Given the description of an element on the screen output the (x, y) to click on. 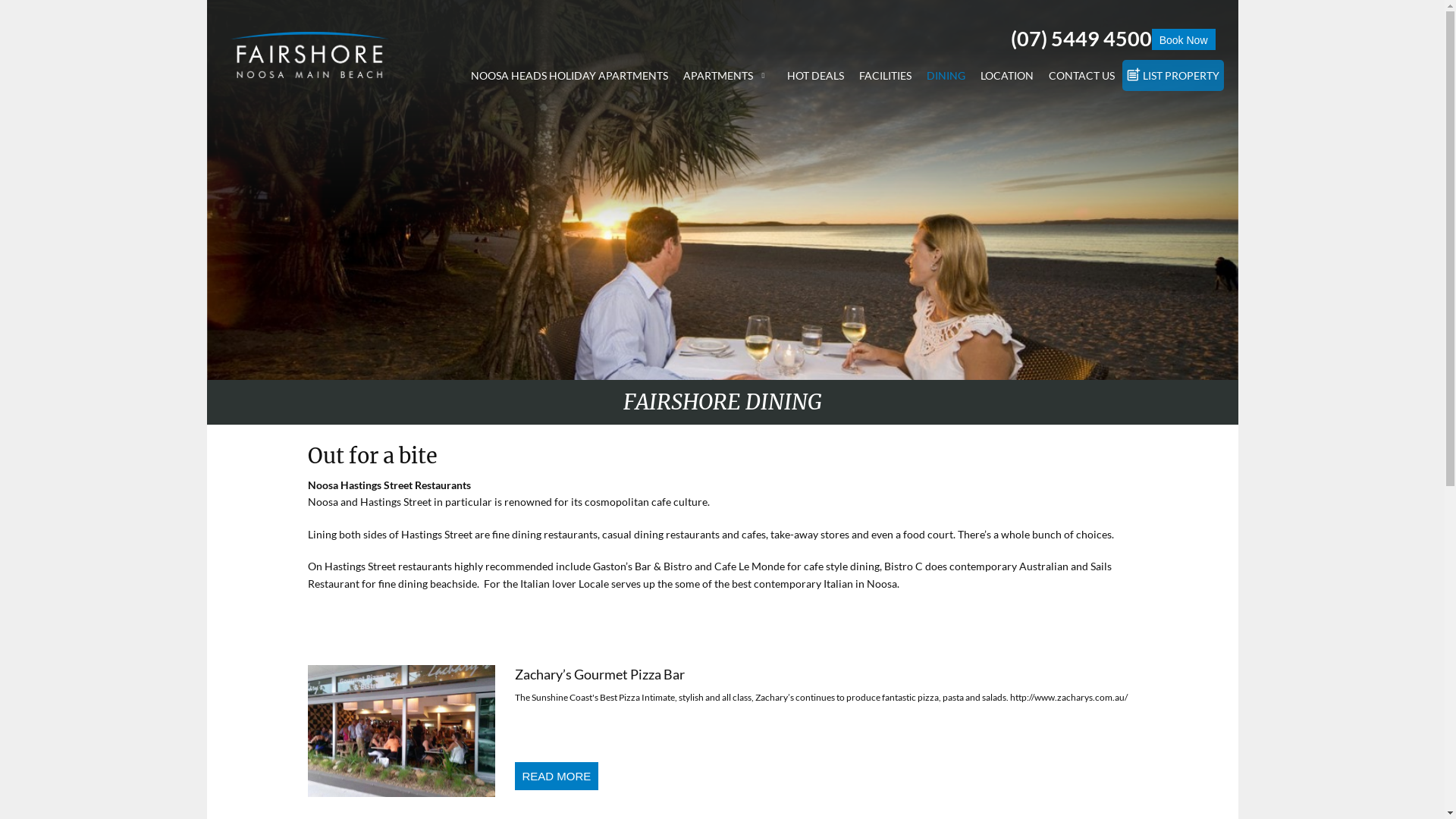
DIRECT BEACH ACCESS Element type: text (763, 162)
DINING Element type: text (945, 75)
LIST PROPERTY Element type: text (1172, 75)
APARTMENTS Element type: text (726, 75)
NOOSA HEADS HOLIDAY APARTMENTS Element type: text (568, 75)
SUPERIOR BEACHFRONT Element type: text (763, 139)
2 BEDROOM 2 BATHROOM DELUXE Element type: text (763, 117)
CONTACT US Element type: text (1080, 75)
Book Now Element type: text (1183, 39)
BEACHFRONT Element type: text (763, 94)
READ MORE Element type: text (556, 776)
LOCATION Element type: text (1006, 75)
FACILITIES Element type: text (884, 75)
HOT DEALS Element type: text (815, 75)
(07) 5449 4500 Element type: text (1080, 37)
